Given the description of an element on the screen output the (x, y) to click on. 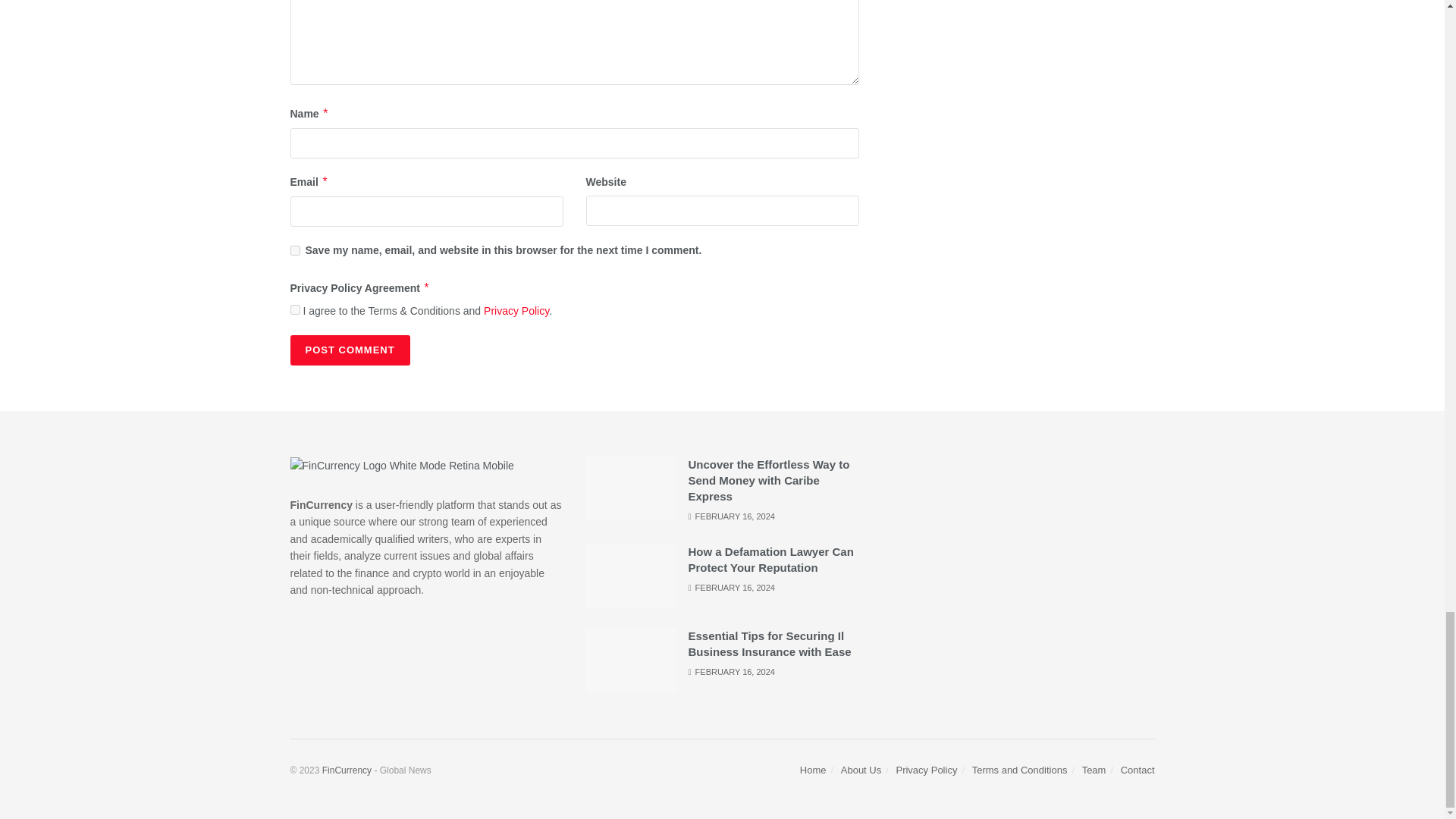
FinCurrency Logo White Mode Retina Mobile - FinCurrency (401, 465)
yes (294, 250)
on (294, 309)
FinCurrency (346, 769)
Post Comment (349, 349)
